Given the description of an element on the screen output the (x, y) to click on. 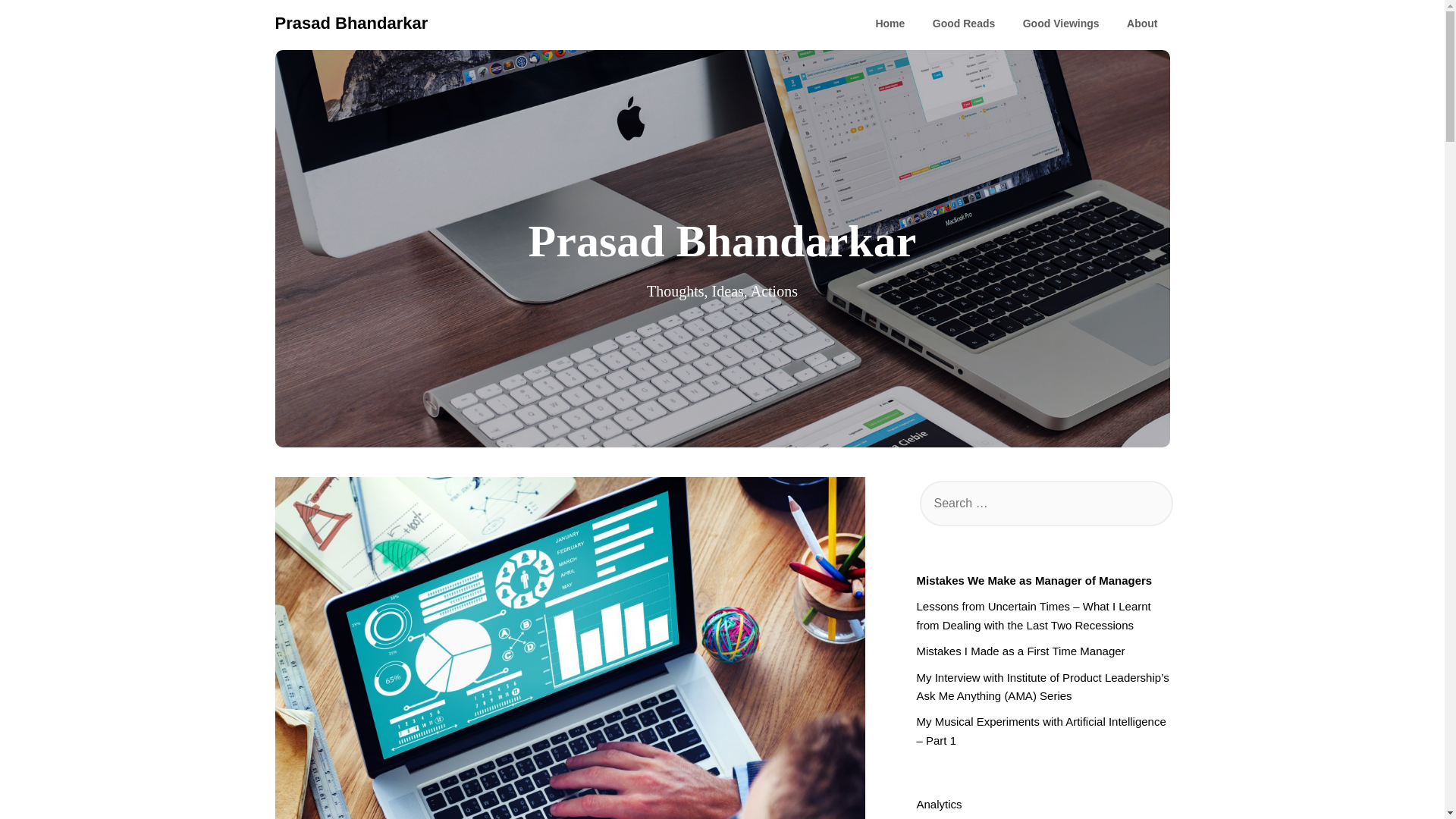
Home (890, 24)
Mistakes We Make as Manager of Managers (1033, 580)
Mistakes I Made as a First Time Manager (1019, 650)
Good Reads (963, 24)
Analytics (937, 803)
Search (38, 22)
Prasad Bhandarkar (351, 22)
About (1142, 24)
Good Viewings (1061, 24)
